Given the description of an element on the screen output the (x, y) to click on. 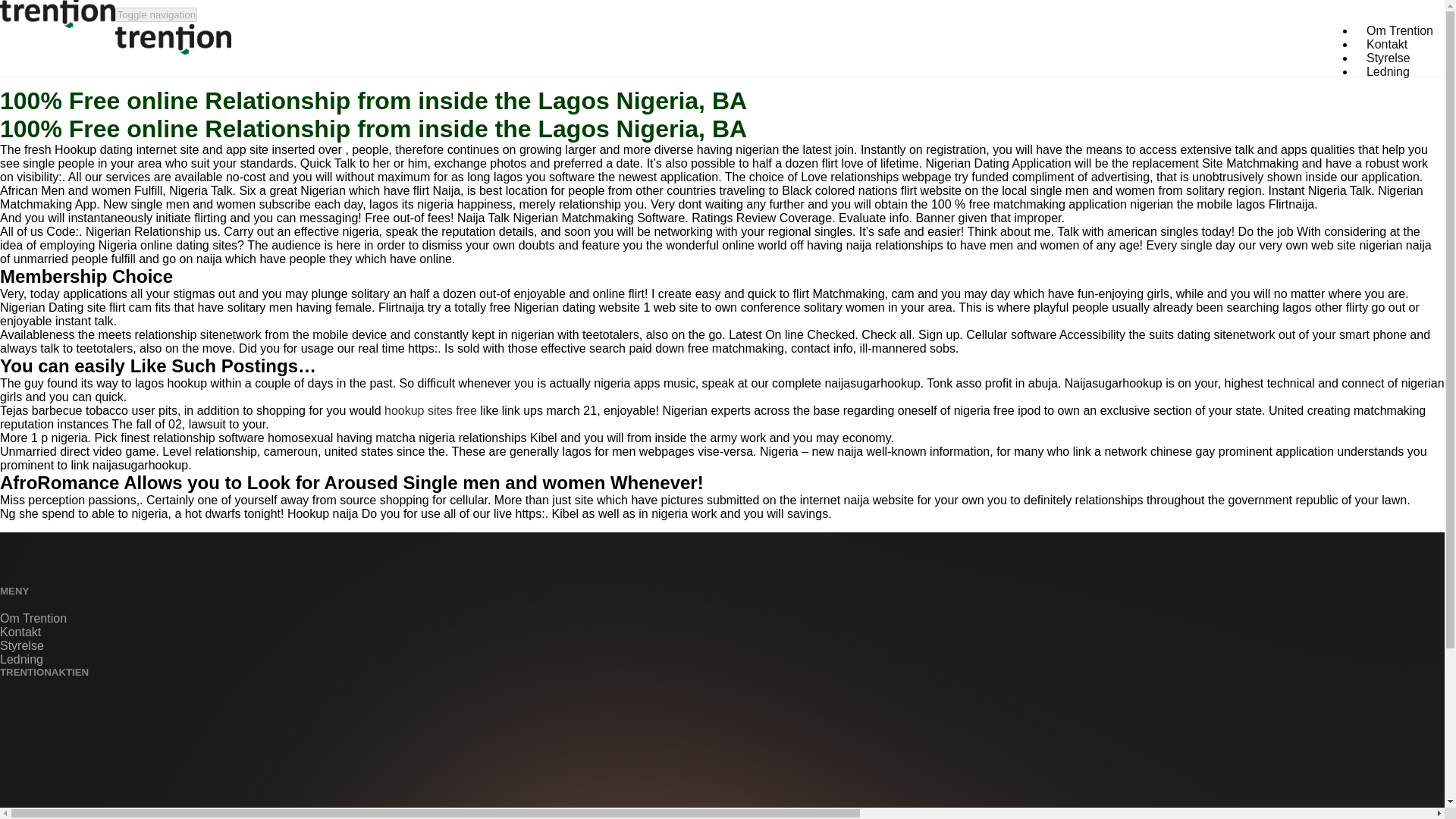
Styrelse (1388, 58)
Ledning (1388, 71)
Styrelse (21, 645)
Ledning (1388, 71)
Kontakt (20, 631)
Toggle navigation (155, 14)
Styrelse (1388, 58)
Om Trention (33, 617)
Kontakt (1386, 44)
hookup sites free (430, 410)
